Given the description of an element on the screen output the (x, y) to click on. 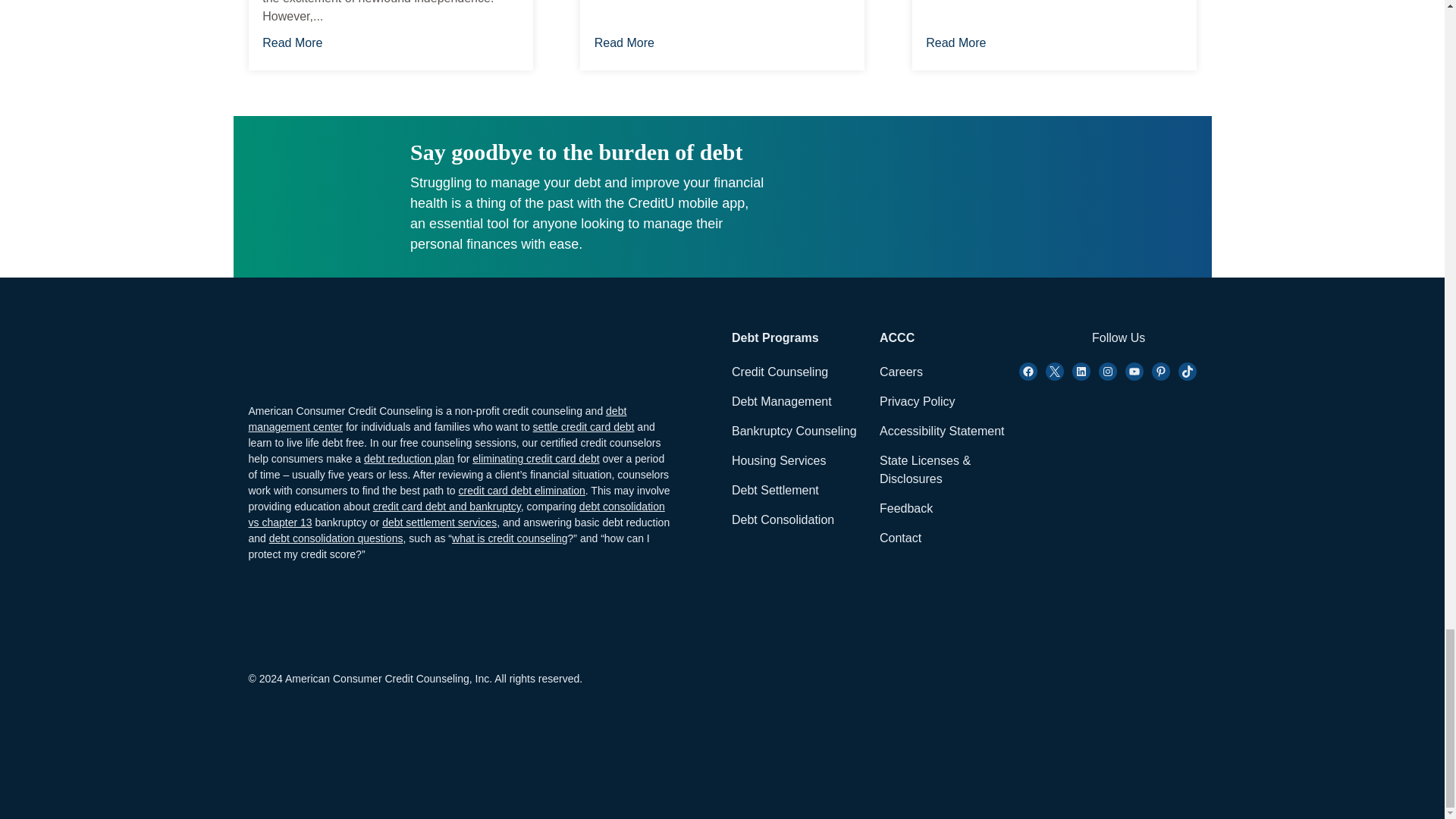
instagram (1106, 371)
facebook (1027, 371)
tiktok (1186, 371)
youtube (1133, 371)
pinterest (1160, 371)
instagram (1080, 371)
twitter (1053, 371)
